Given the description of an element on the screen output the (x, y) to click on. 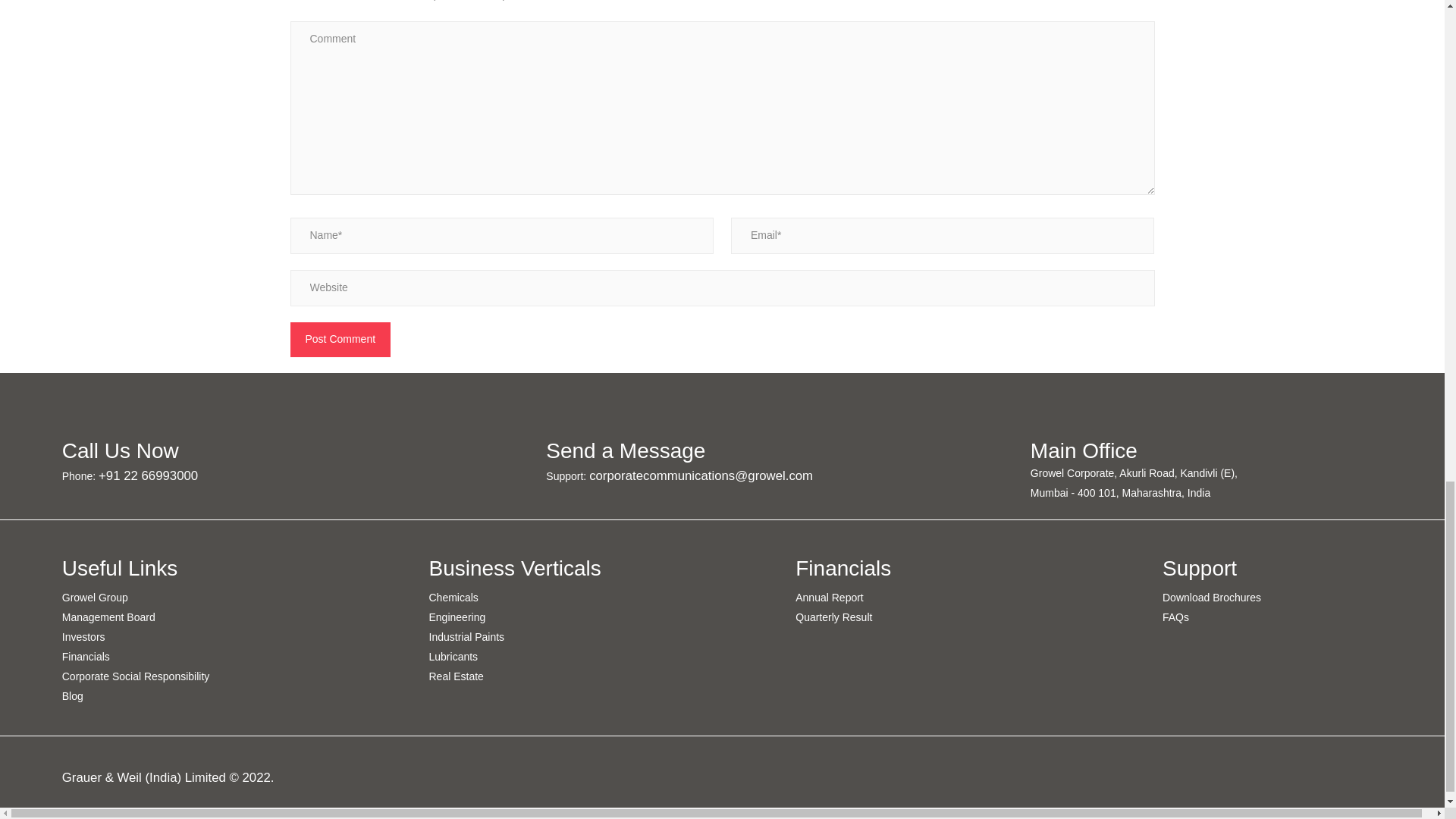
Post Comment (339, 339)
